Given the description of an element on the screen output the (x, y) to click on. 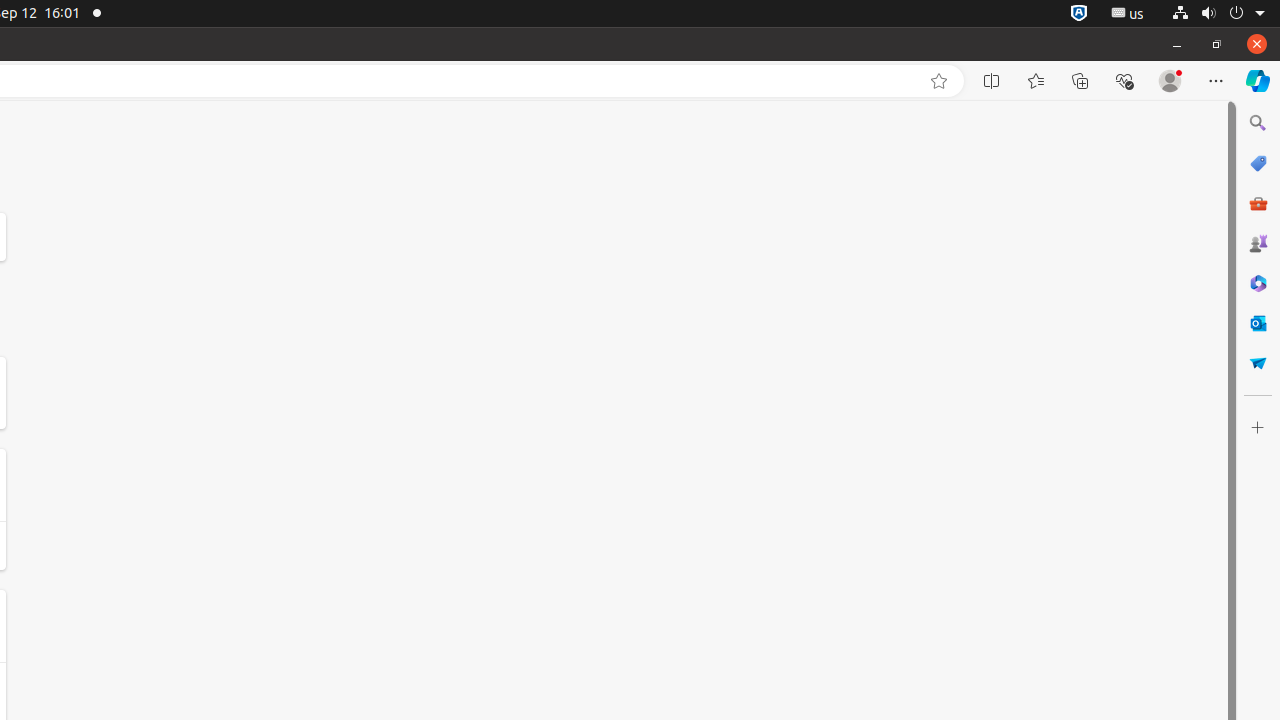
:1.21/StatusNotifierItem Element type: menu (1127, 13)
Split screen Element type: push-button (992, 81)
Microsoft Shopping Element type: push-button (1258, 163)
Add this page to favorites (Ctrl+D) Element type: push-button (939, 81)
System Element type: menu (1218, 13)
